Given the description of an element on the screen output the (x, y) to click on. 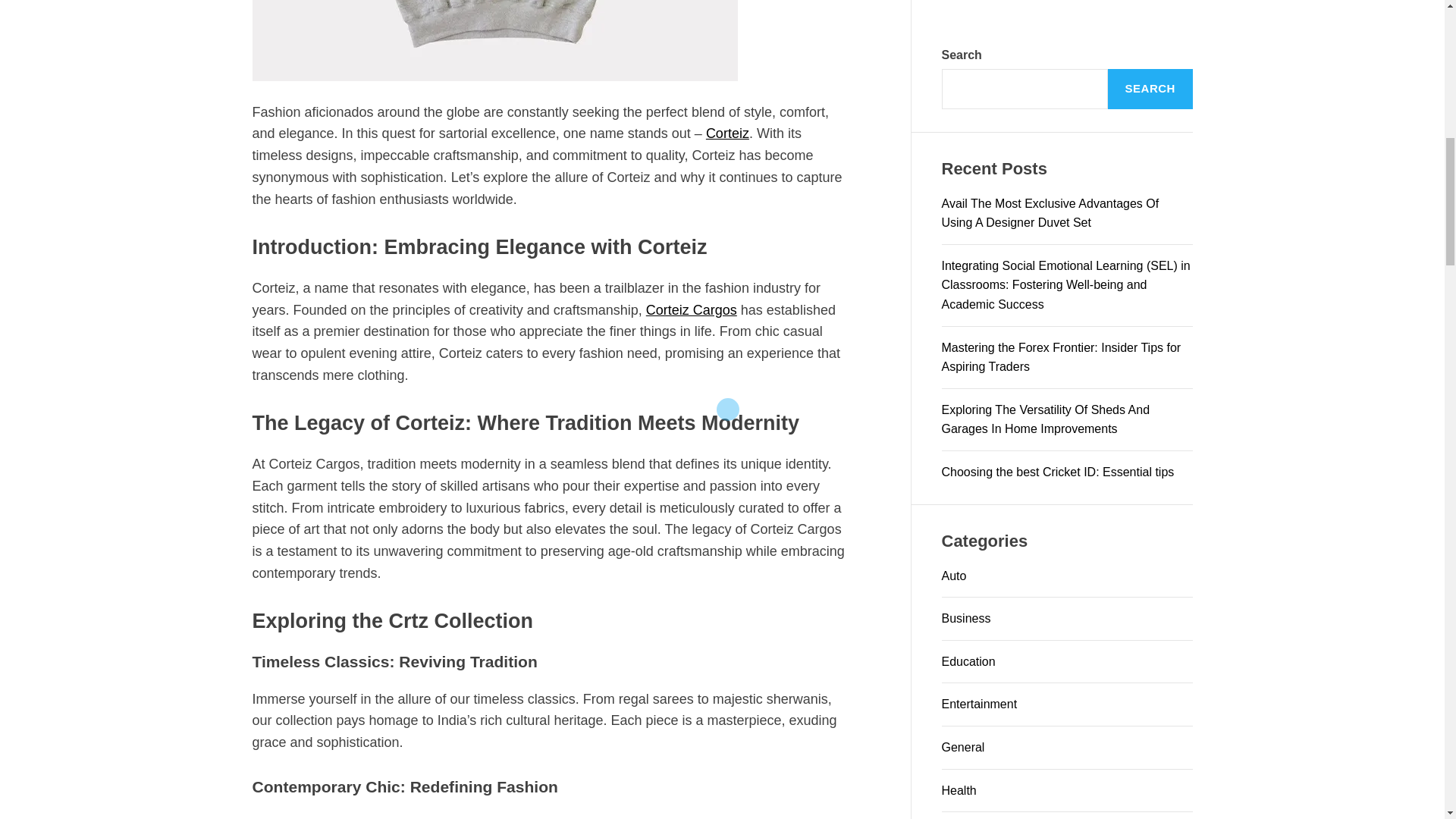
Corteiz (727, 133)
Corteiz Cargos (691, 309)
